Given the description of an element on the screen output the (x, y) to click on. 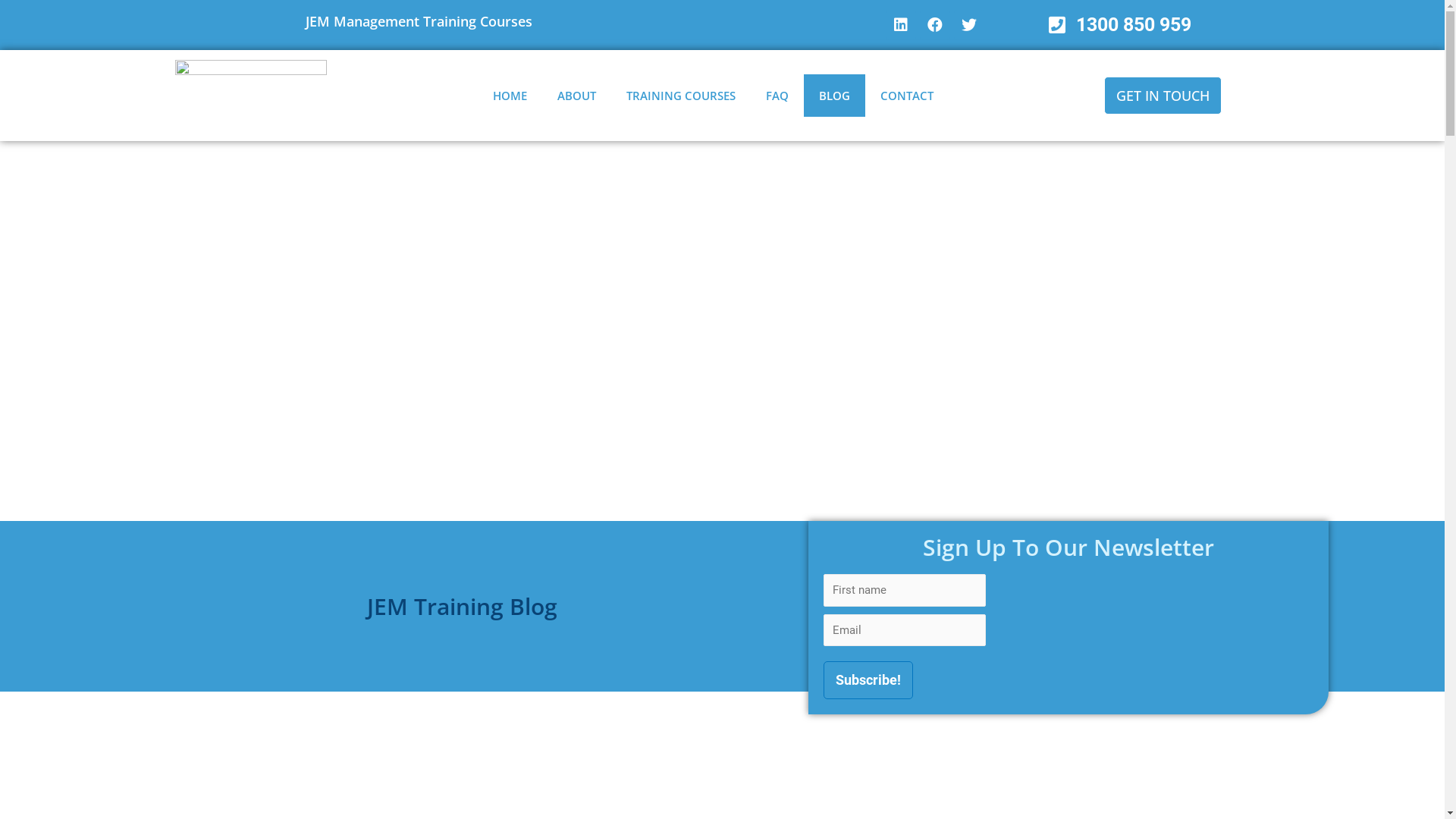
Email Element type: hover (904, 630)
FAQ Element type: text (776, 95)
ABOUT Element type: text (576, 95)
1300 850 959 Element type: text (1119, 24)
First name Element type: hover (904, 590)
BLOG Element type: text (834, 95)
HOME Element type: text (509, 95)
CONTACT Element type: text (906, 95)
GET IN TOUCH Element type: text (1162, 95)
Subscribe! Element type: text (868, 680)
TRAINING COURSES Element type: text (680, 95)
